Given the description of an element on the screen output the (x, y) to click on. 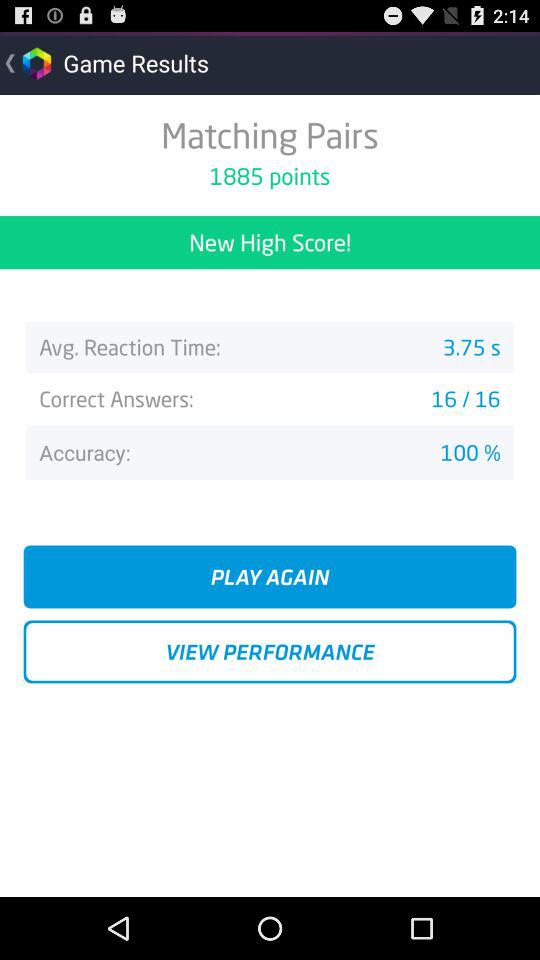
press item below accuracy: (269, 576)
